Given the description of an element on the screen output the (x, y) to click on. 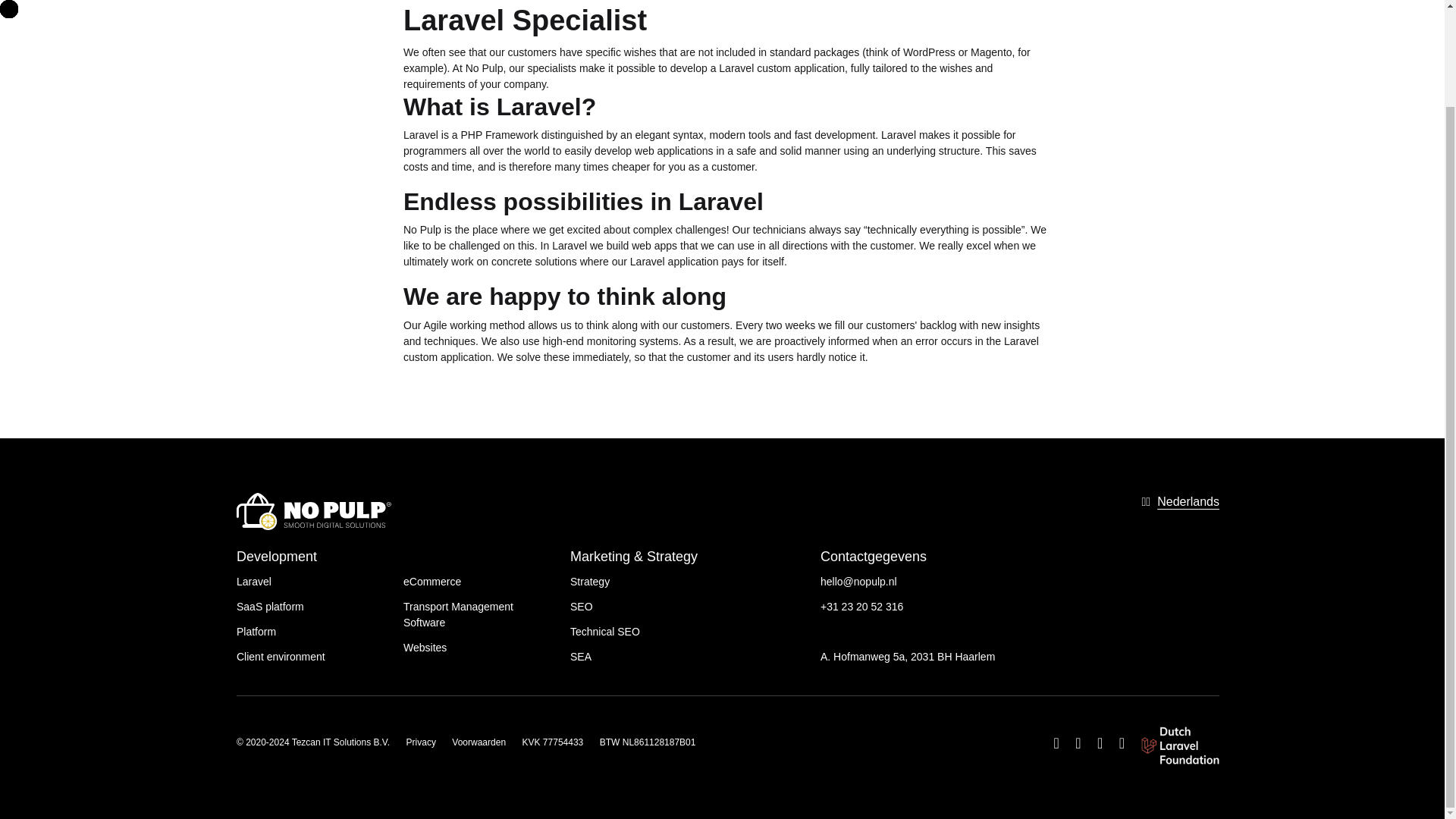
SEO (581, 606)
Websites (424, 647)
SaaS platform (269, 606)
SEA (580, 656)
Client environment (279, 656)
Laravel (252, 581)
Privacy (420, 742)
Platform (255, 631)
eCommerce (432, 581)
Transport Management Software (458, 614)
